Given the description of an element on the screen output the (x, y) to click on. 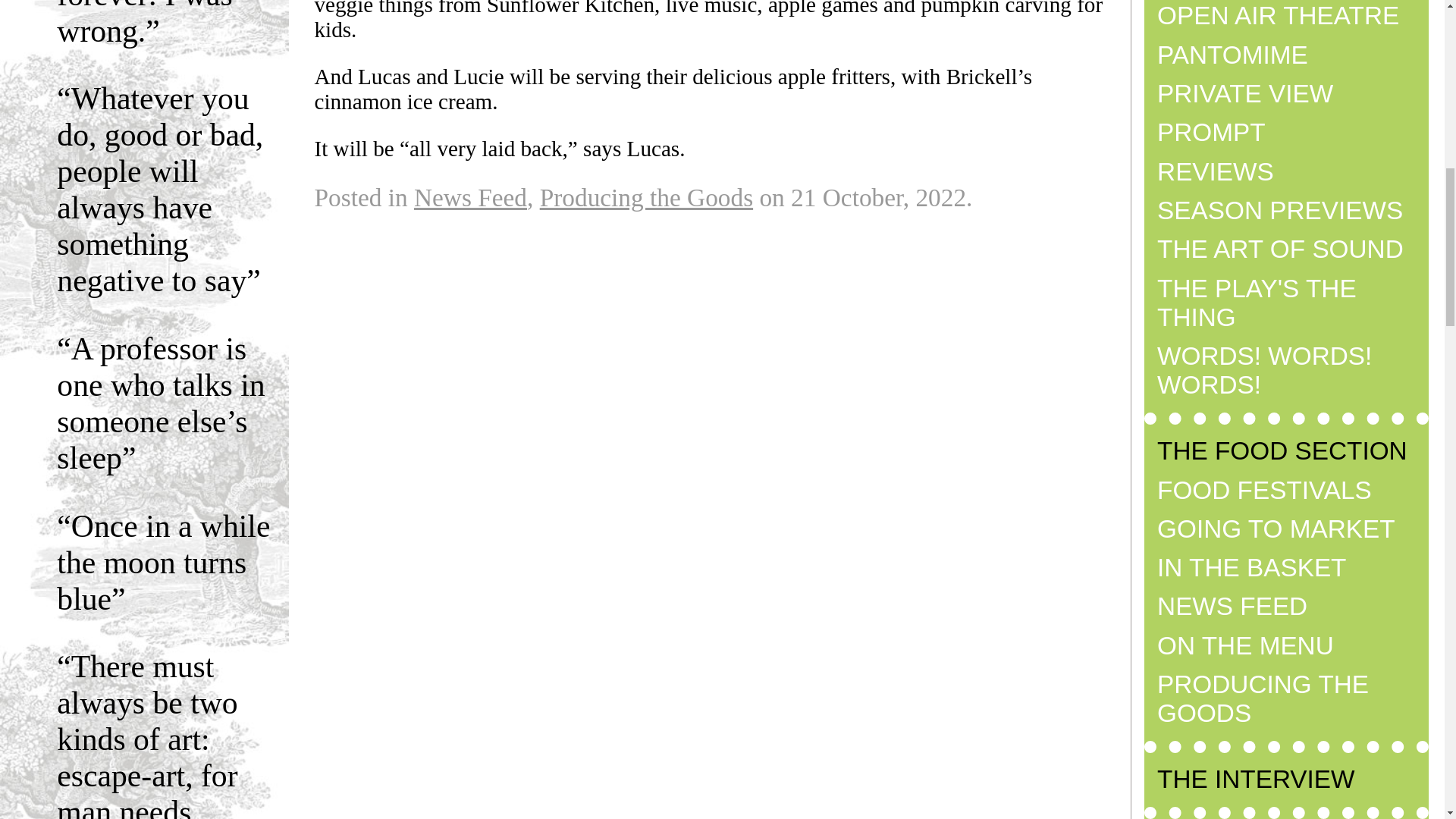
REVIEWS (1215, 171)
THE PLAY'S THE THING (1256, 302)
PROMPT (1211, 131)
ON THE MENU (1245, 645)
NEWS FEED (1232, 605)
THE INTERVIEW (1255, 778)
SEASON PREVIEWS (1280, 210)
THE ART OF SOUND (1280, 248)
IN THE BASKET (1251, 567)
PRIVATE VIEW (1245, 93)
